Given the description of an element on the screen output the (x, y) to click on. 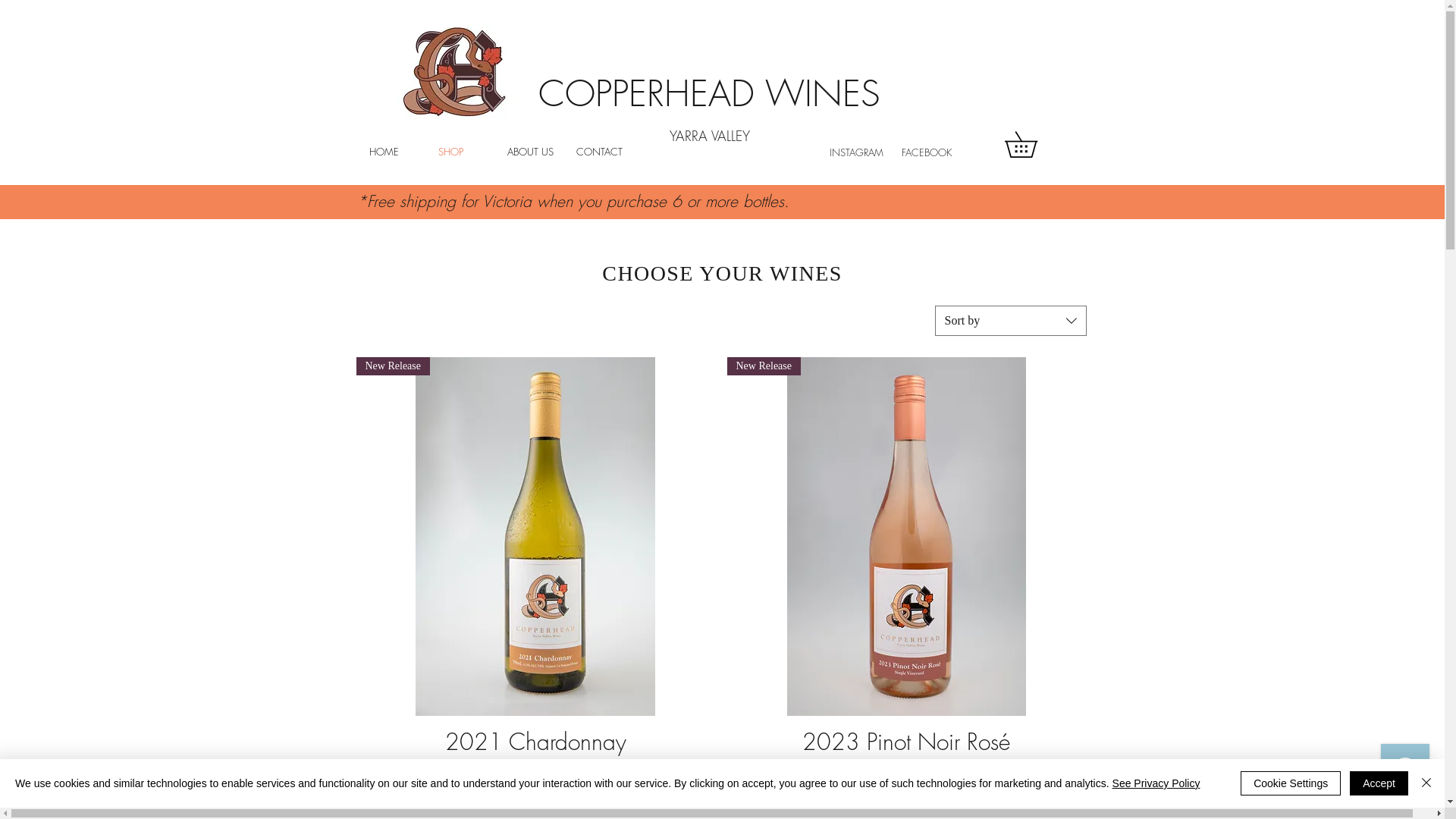
0 Element type: text (1032, 144)
 FACEBOOK   Element type: text (927, 152)
Cookie Settings Element type: text (1290, 783)
See Privacy Policy Element type: text (1156, 783)
New Release Element type: text (905, 536)
2021 Chardonnay
Price
$27.00 Element type: text (535, 762)
New Release Element type: text (535, 536)
SHOP Element type: text (460, 151)
INSTAGRAM Element type: text (856, 152)
Wix Chat Element type: hover (1408, 771)
Accept Element type: text (1378, 783)
ABOUT US Element type: text (529, 151)
Sort by Element type: text (1009, 320)
CONTACT Element type: text (598, 151)
HOME Element type: text (391, 151)
